Given the description of an element on the screen output the (x, y) to click on. 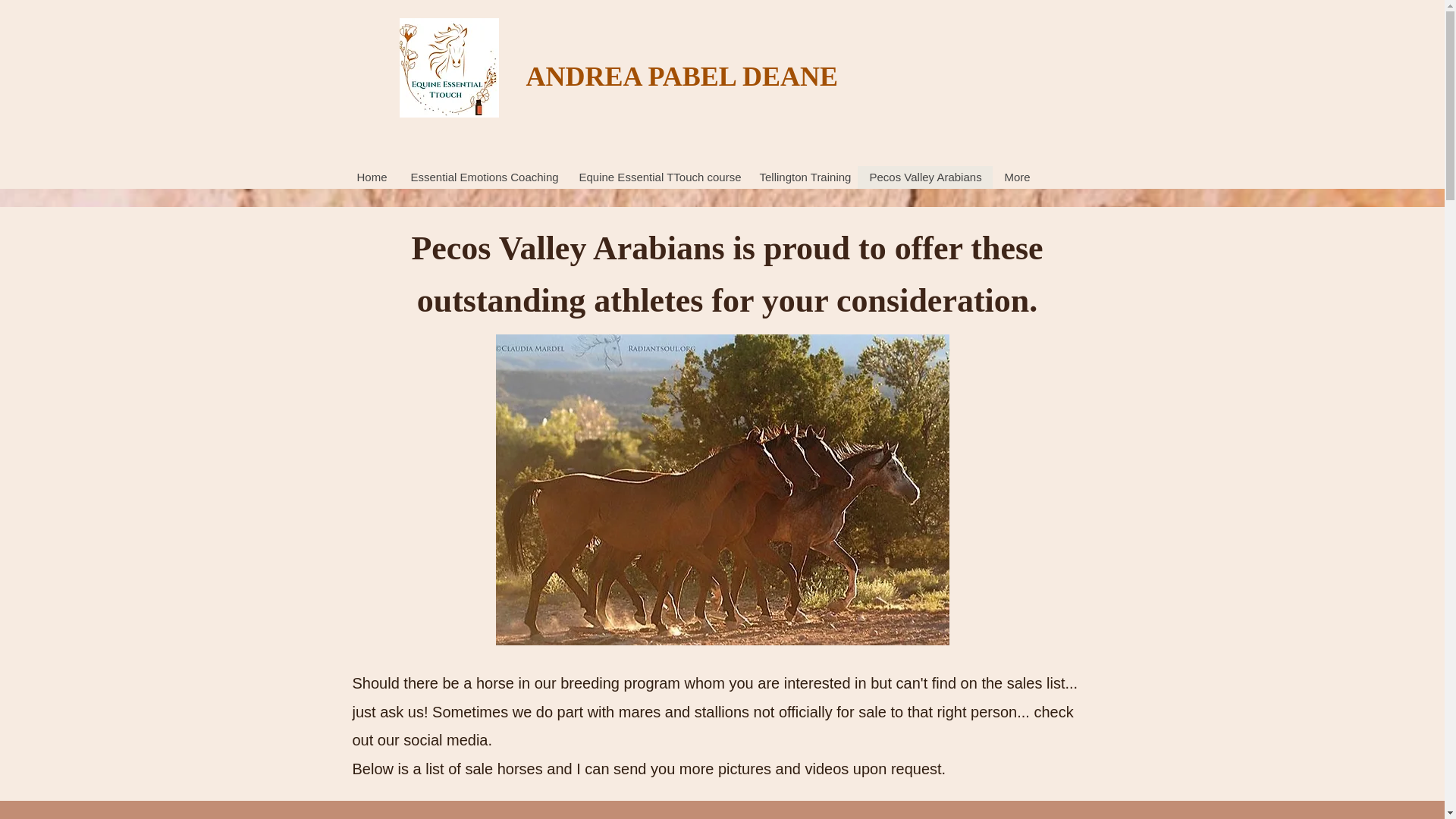
Home (372, 177)
Equine Essential TTouch course (657, 177)
ANDREA PABEL DEANE (681, 76)
Essential Emotions Coaching (482, 177)
Tellington Training (802, 177)
Pecos Valley Arabians (924, 177)
